Given the description of an element on the screen output the (x, y) to click on. 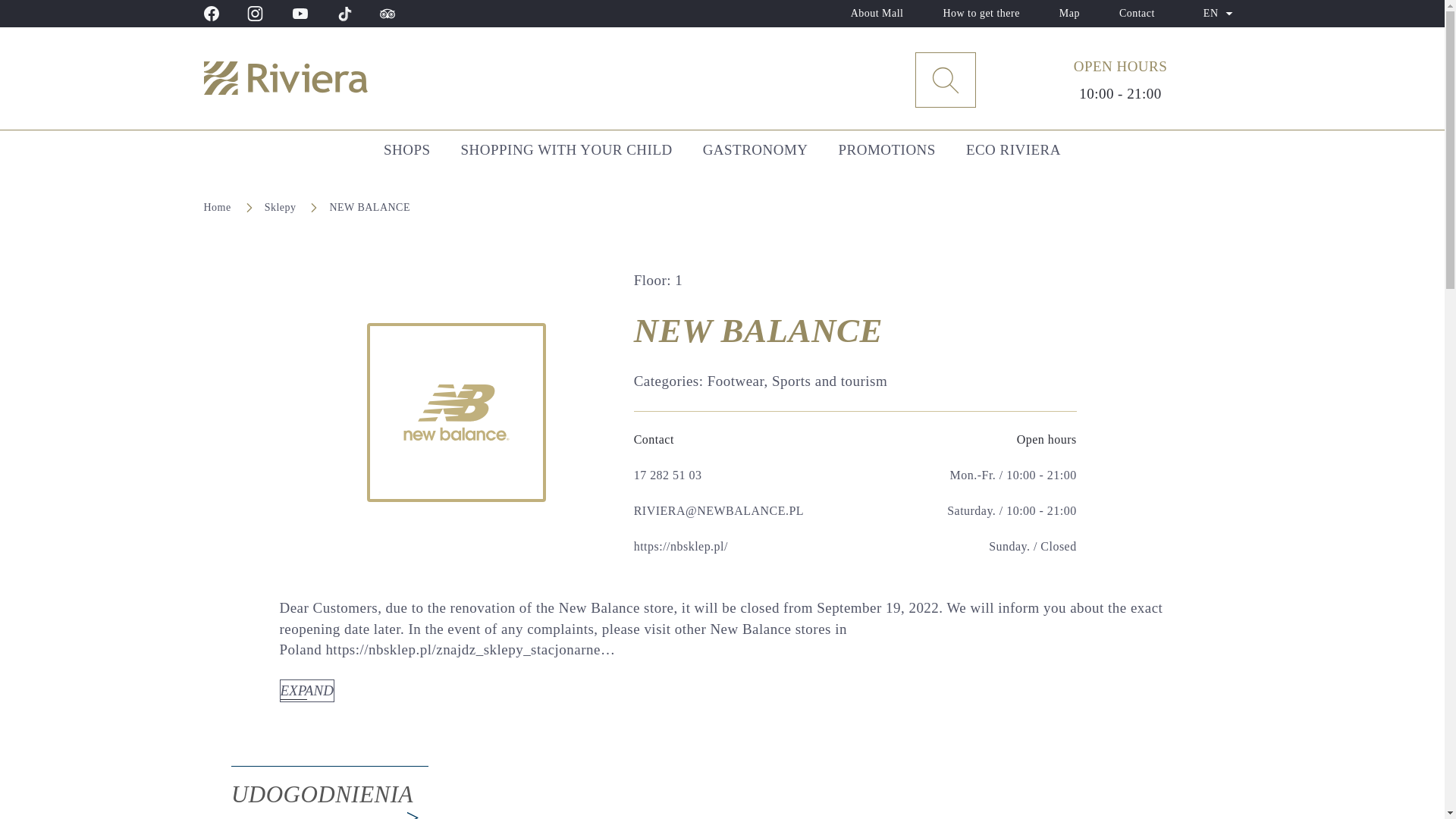
Instagram (255, 13)
Facebook (210, 13)
Map (1069, 13)
About Mall (876, 13)
How to get there (980, 13)
EN (1217, 13)
Youtube (299, 13)
Map (1069, 13)
SHOPPING WITH YOUR CHILD (566, 149)
About Mall (876, 13)
Tik tok (343, 13)
SHOPS (406, 149)
Contact (1136, 13)
How to get there (980, 13)
Trip advisor (386, 13)
